Given the description of an element on the screen output the (x, y) to click on. 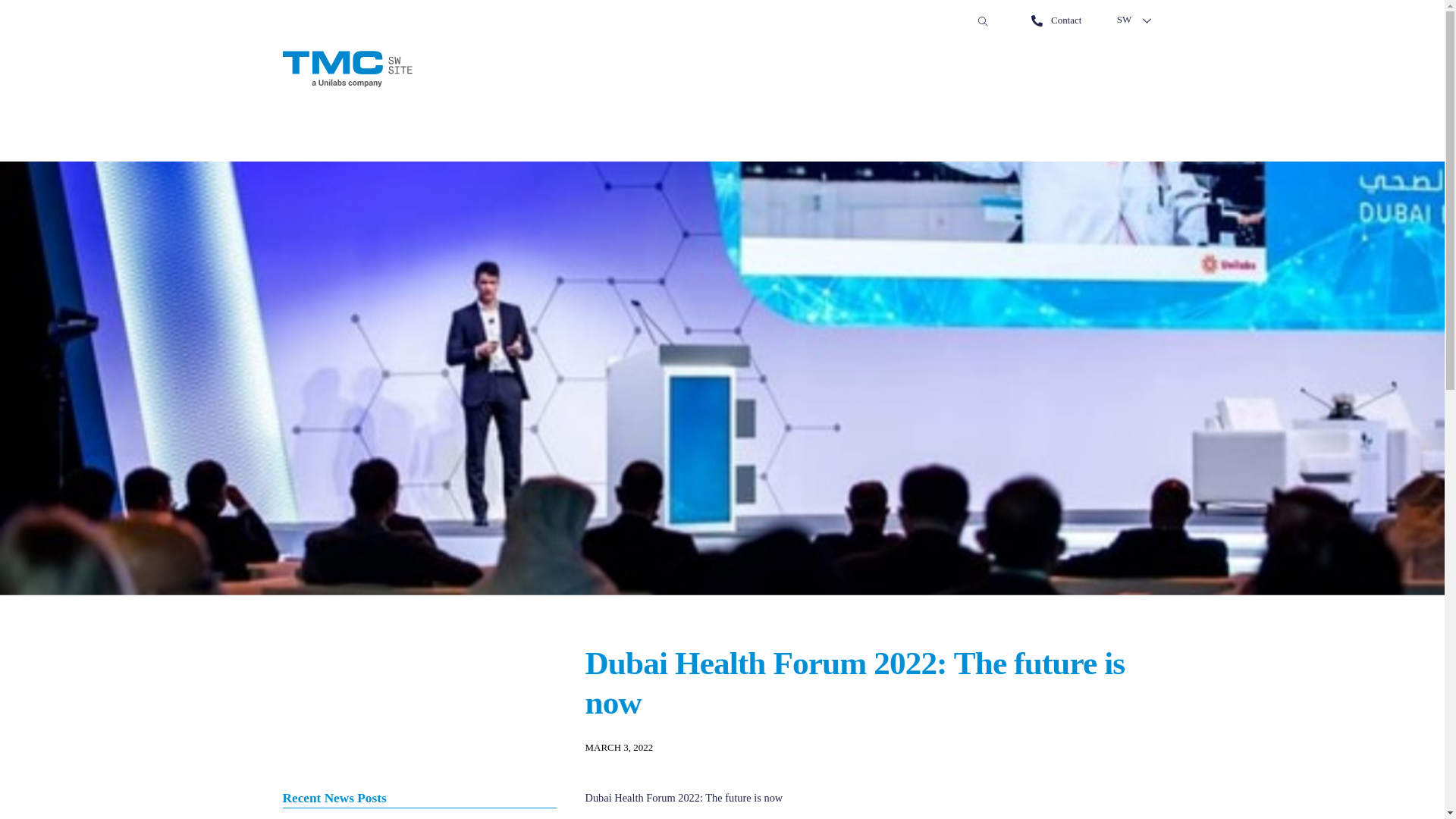
Contact (1056, 20)
SW (1133, 19)
